Given the description of an element on the screen output the (x, y) to click on. 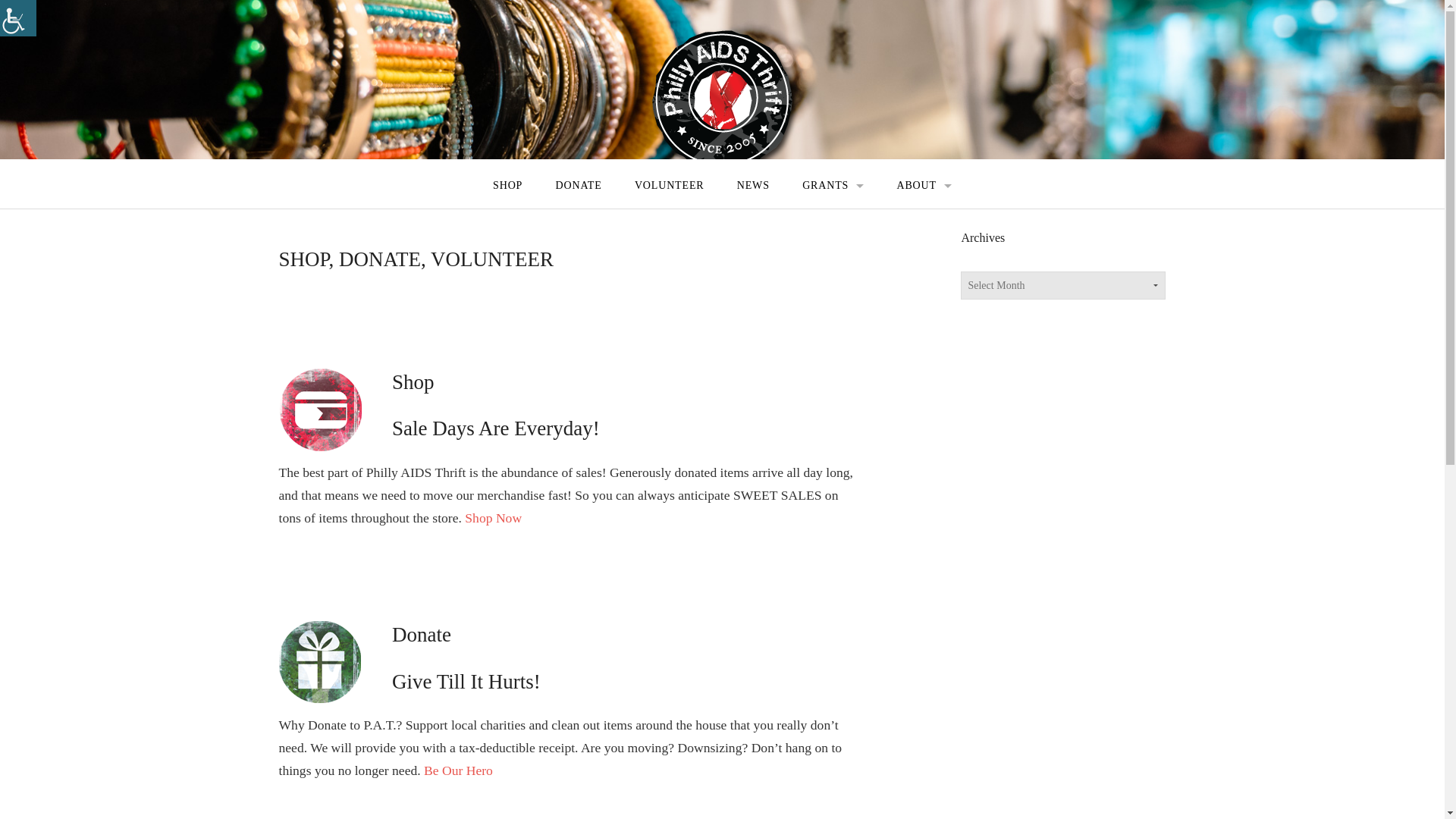
shopicon (320, 409)
VOLUNTEER (668, 185)
GRANTS (832, 185)
SHOP (507, 185)
ABOUT (924, 185)
Accessibility Helper sidebar (18, 18)
Shop (492, 517)
DIRECTIONS (924, 214)
Shop Now (492, 517)
NEWS (753, 185)
DONATE (577, 185)
APPLY (832, 214)
Be Our Hero (458, 770)
